Given the description of an element on the screen output the (x, y) to click on. 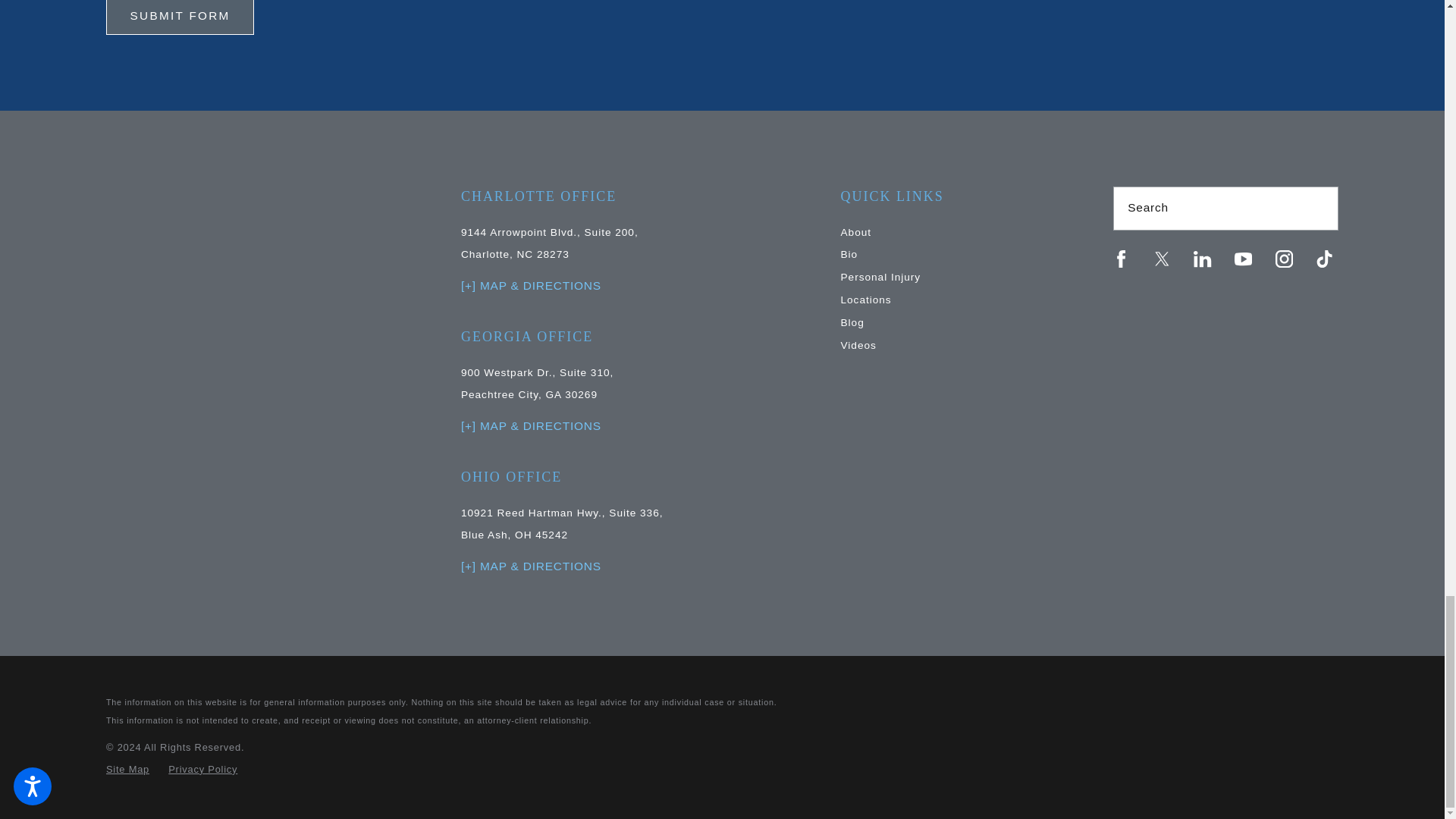
Twitter (1161, 258)
Facebook (1120, 258)
Search Our Site (1318, 207)
Search Icon (1318, 208)
LinkedIn (1202, 258)
